Given the description of an element on the screen output the (x, y) to click on. 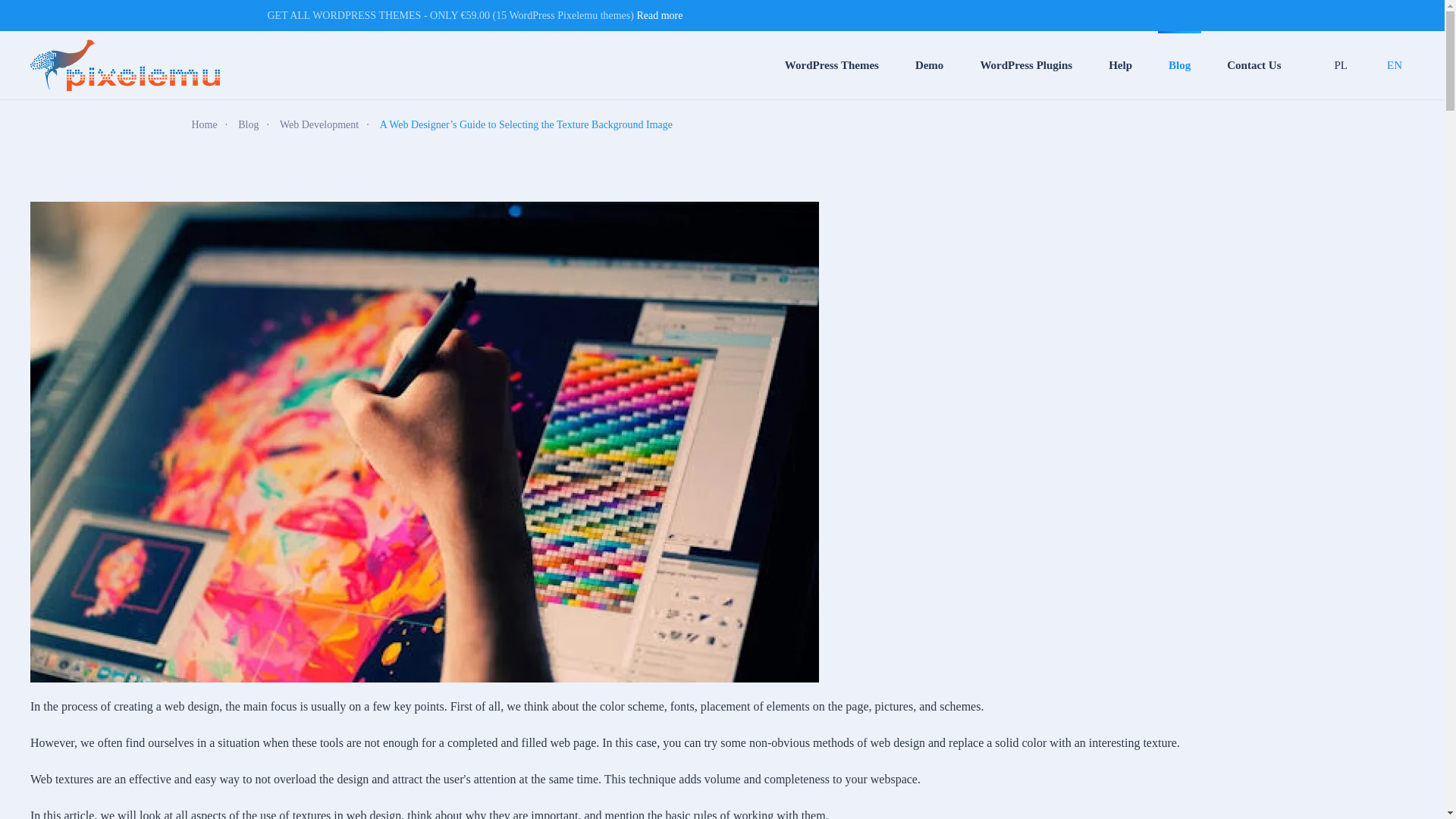
Blog (248, 124)
WordPress Plugins (1026, 65)
Contact Us (1253, 65)
Web Development (318, 124)
WordPress Themes (831, 65)
Read more (659, 15)
EN (1393, 65)
Home (203, 124)
